Given the description of an element on the screen output the (x, y) to click on. 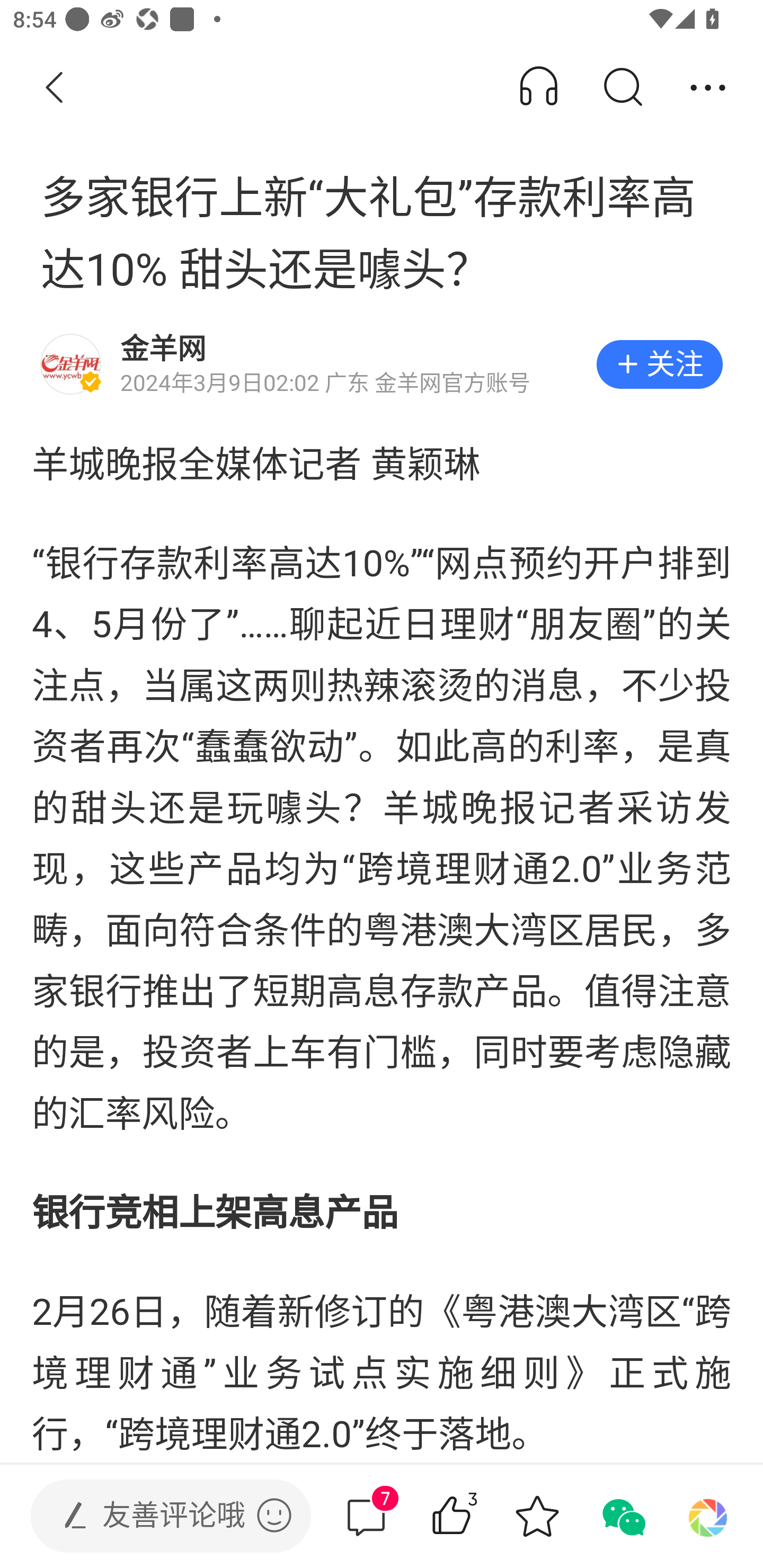
搜索  (622, 87)
分享  (707, 87)
 返回 (54, 87)
金羊网 2024年3月9日02:02 广东 金羊网官方账号  关注 (381, 364)
 关注 (659, 364)
发表评论  友善评论哦 发表评论  (155, 1516)
7评论  7 评论 (365, 1516)
3赞 (476, 1516)
收藏  (536, 1516)
分享到微信  (622, 1516)
分享到朋友圈 (707, 1516)
 (274, 1515)
